Given the description of an element on the screen output the (x, y) to click on. 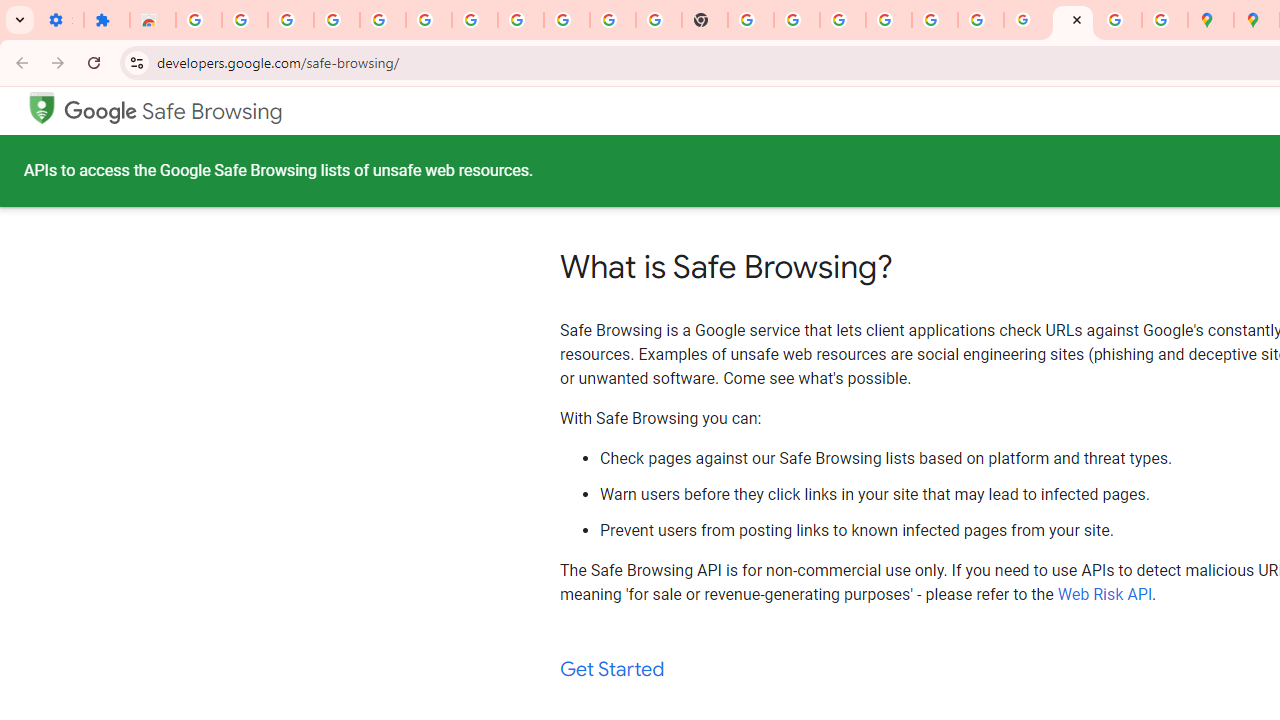
Safety in Our Products - Google Safety Center (1164, 20)
New Tab (705, 20)
Google Safe Browsing (41, 106)
Sign in - Google Accounts (198, 20)
